Given the description of an element on the screen output the (x, y) to click on. 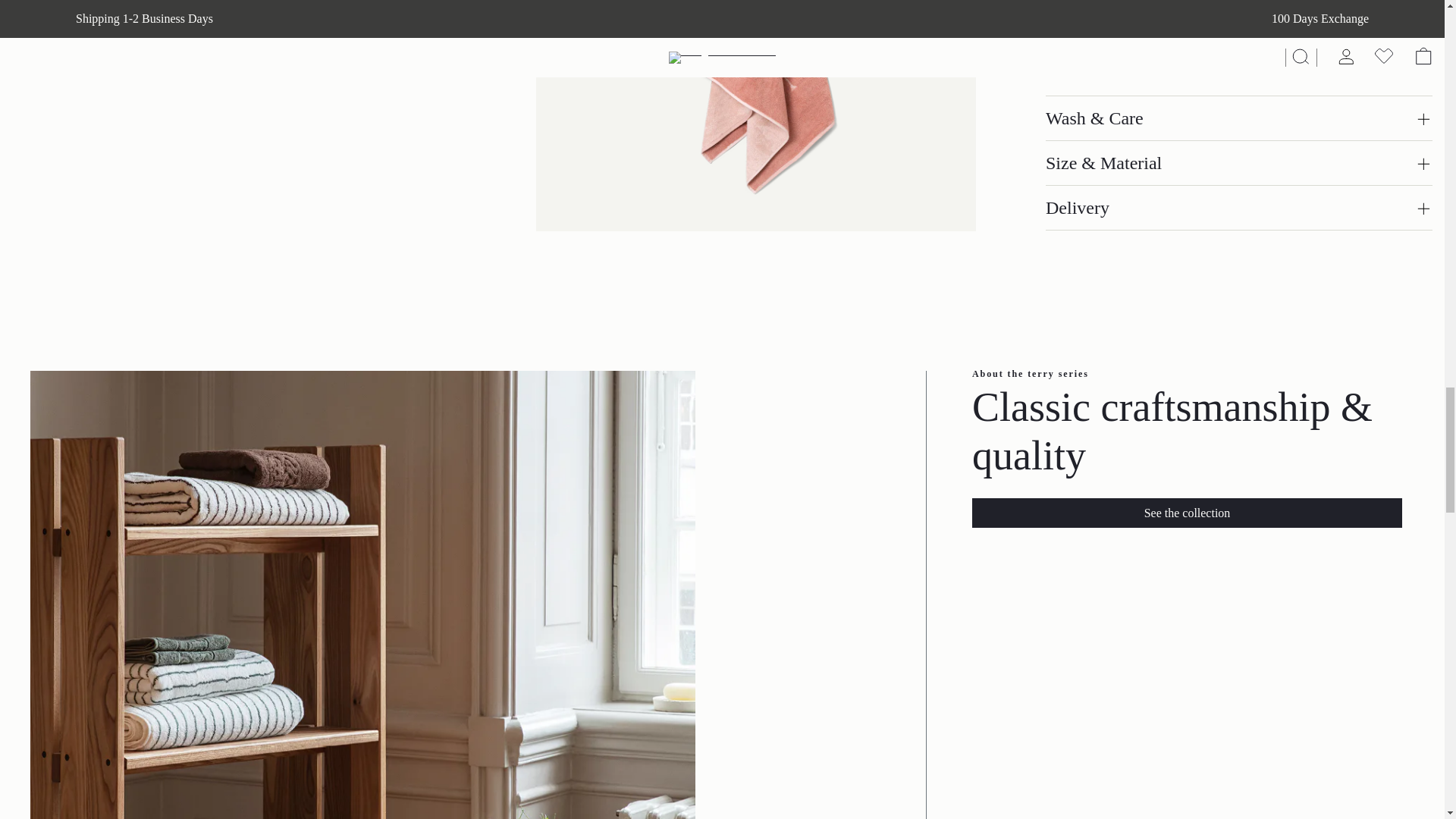
See the collection (1187, 512)
